Given the description of an element on the screen output the (x, y) to click on. 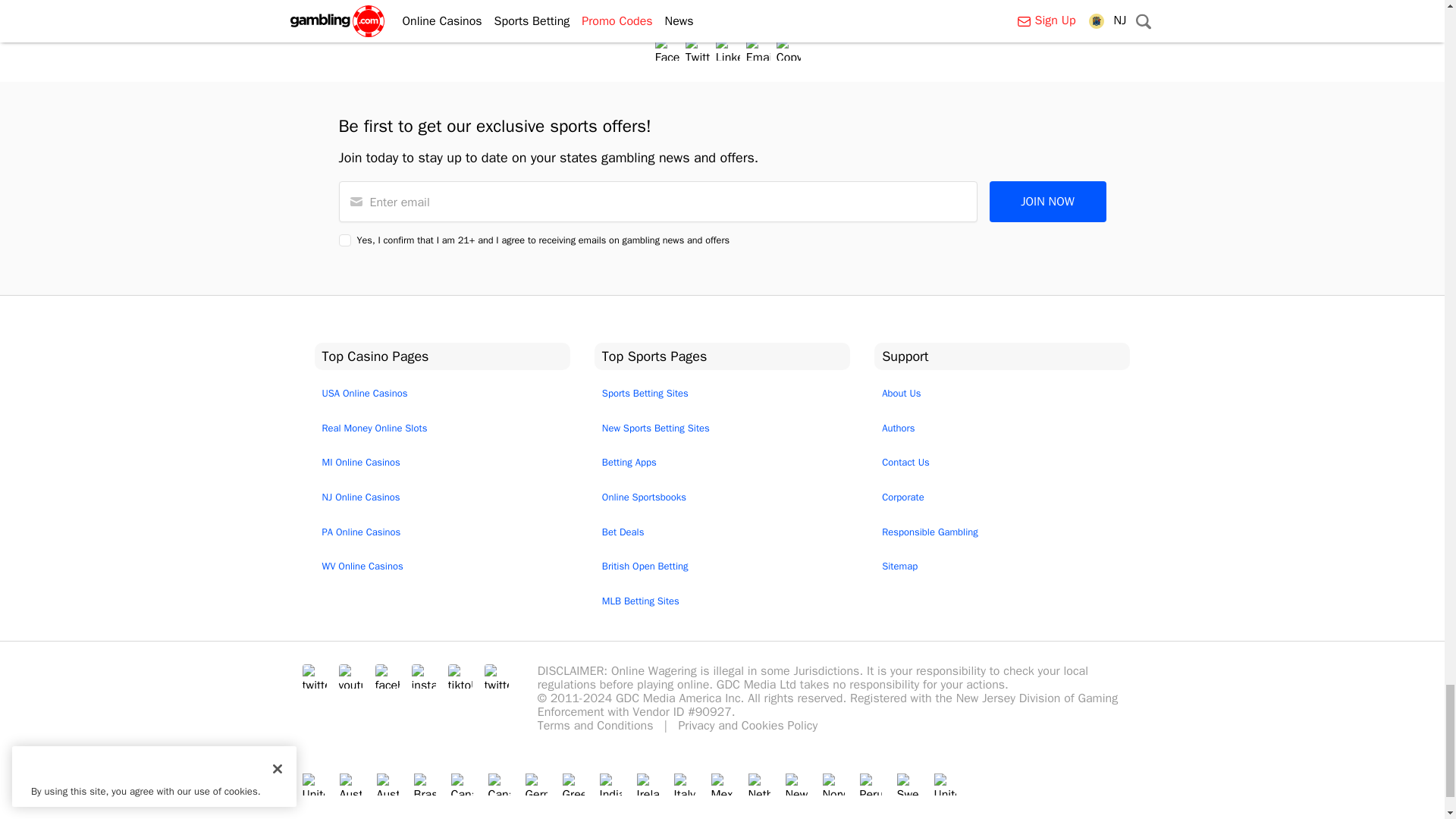
on (343, 240)
